Given the description of an element on the screen output the (x, y) to click on. 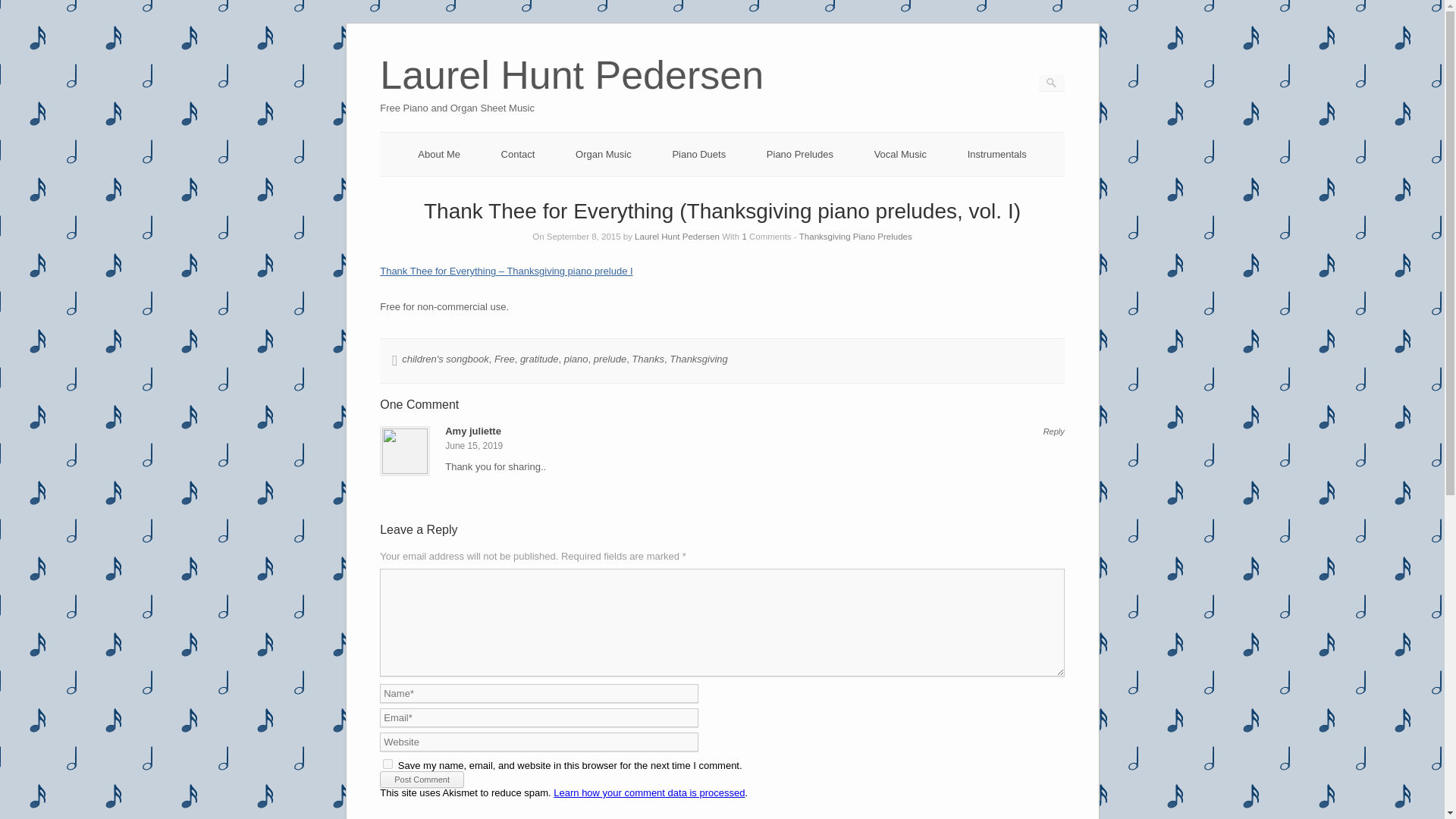
prelude (610, 358)
Post Comment (422, 779)
Thanksgiving (698, 358)
Organ Music (603, 153)
Free (505, 358)
children's songbook (445, 358)
Piano Preludes (799, 153)
Free Piano and Organ Sheet Music (571, 96)
Laurel Hunt Pedersen (676, 235)
